Given the description of an element on the screen output the (x, y) to click on. 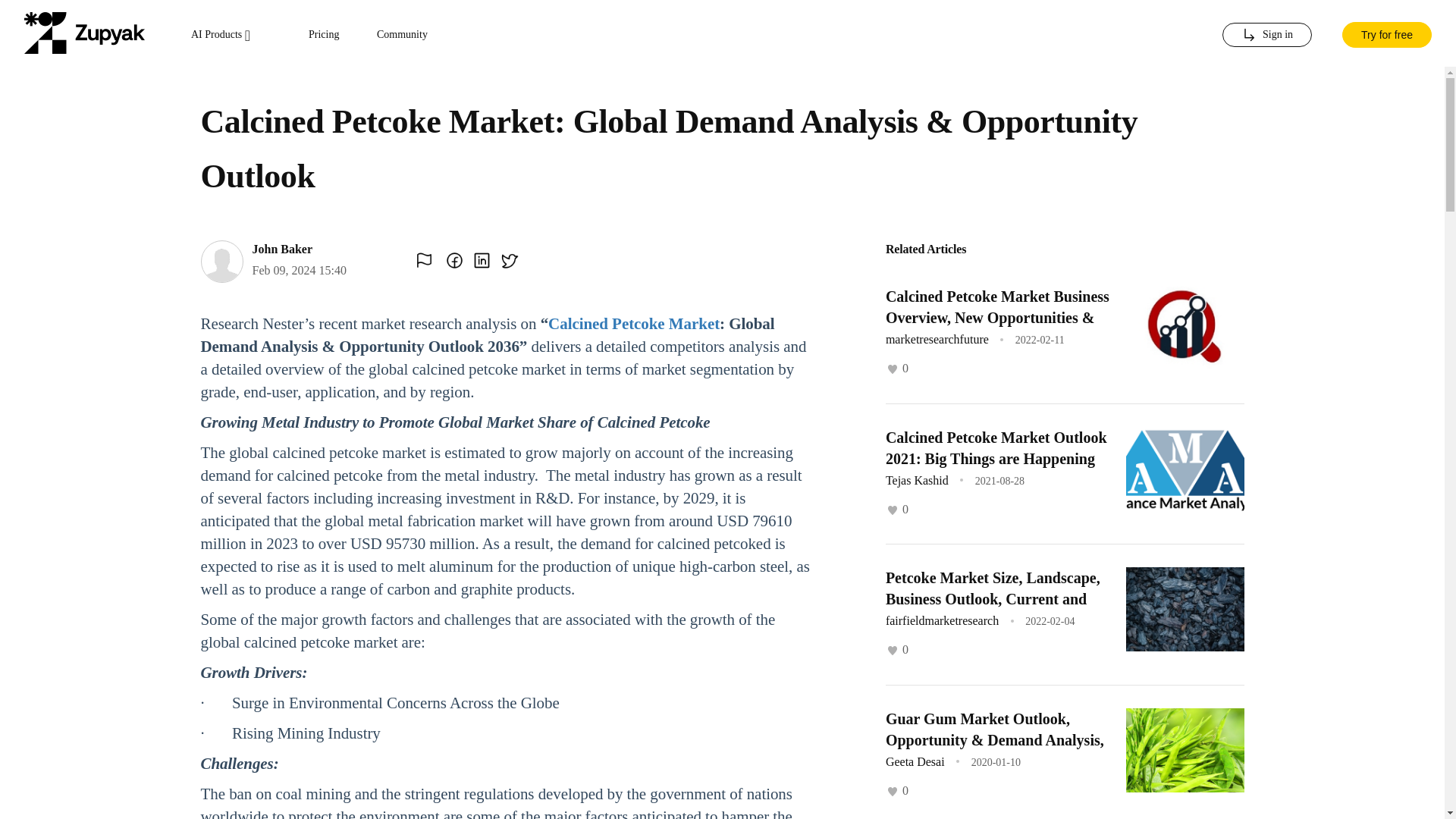
Community (402, 34)
Calcined Petcoke Market (633, 323)
Try for free (1386, 33)
Pricing (323, 34)
 Sign in (1267, 34)
